Given the description of an element on the screen output the (x, y) to click on. 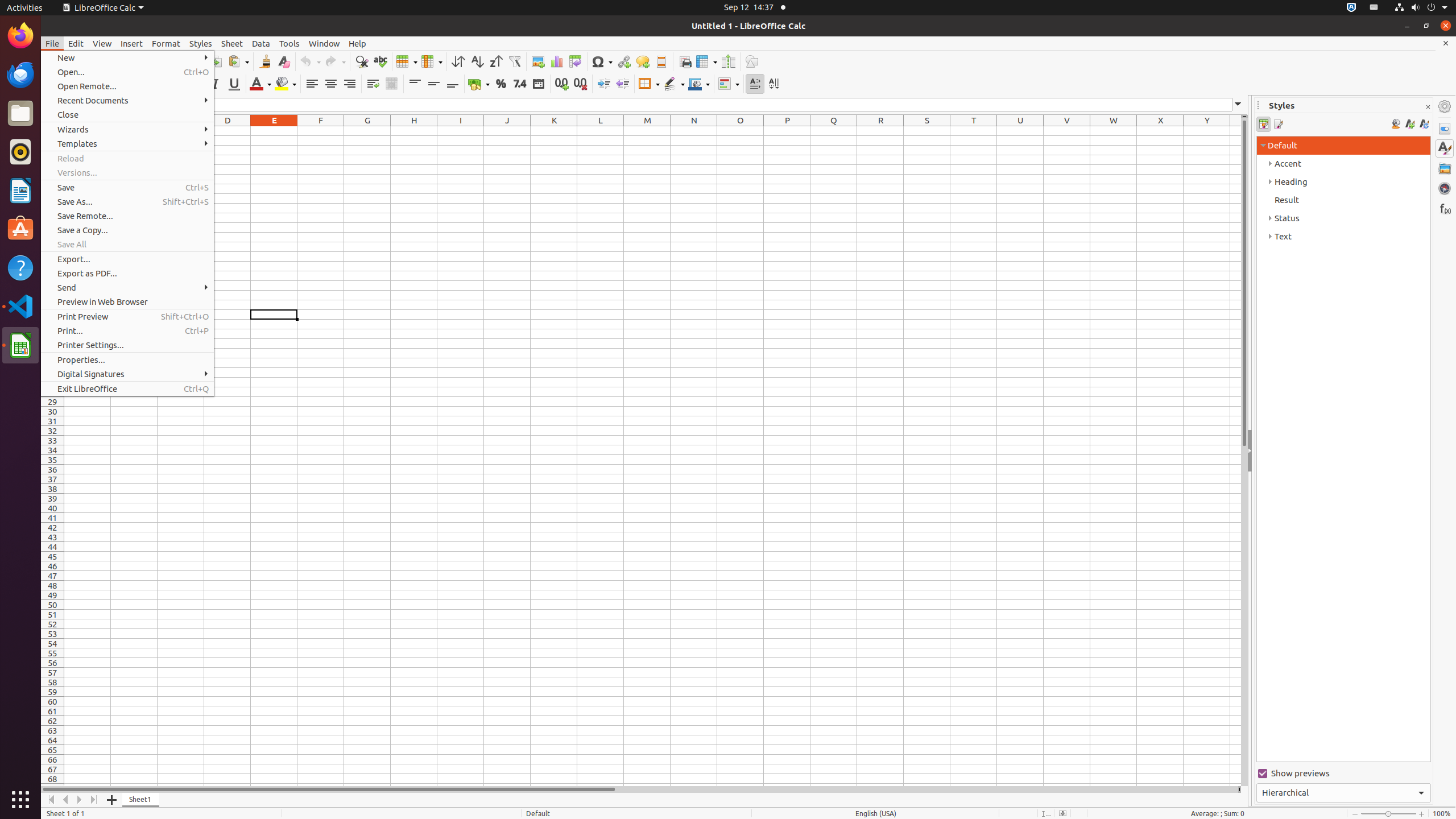
Decrease Element type: push-button (622, 83)
Column Element type: push-button (431, 61)
Save Remote... Element type: menu-item (126, 215)
Z1 Element type: table-cell (1235, 130)
Border Color Element type: push-button (698, 83)
